Given the description of an element on the screen output the (x, y) to click on. 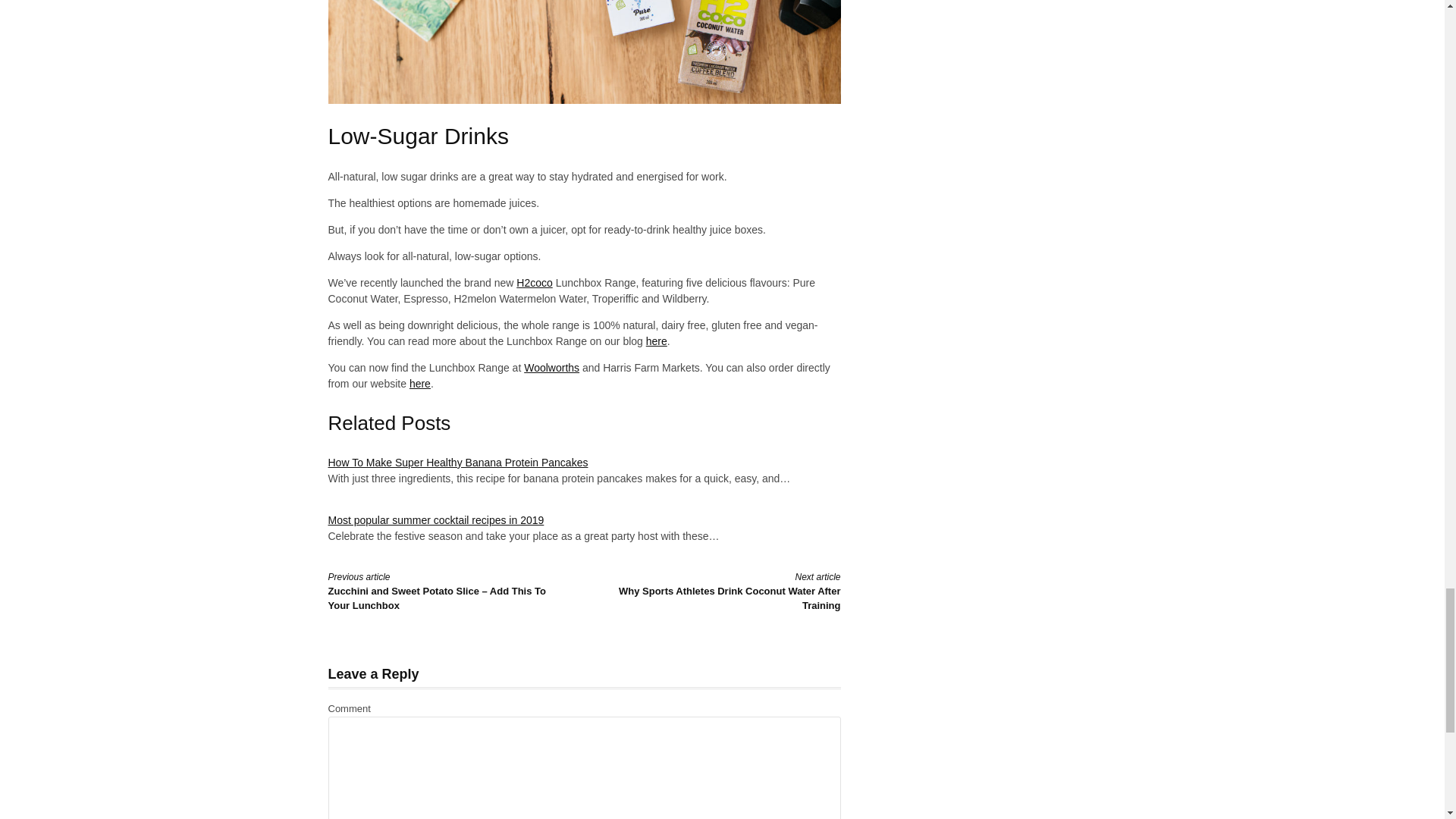
Woolworths (551, 367)
H2coco (533, 282)
Most popular summer cocktail recipes in 2019 (435, 520)
here (419, 383)
here (656, 340)
How To Make Super Healthy Banana Protein Pancakes (457, 462)
